Given the description of an element on the screen output the (x, y) to click on. 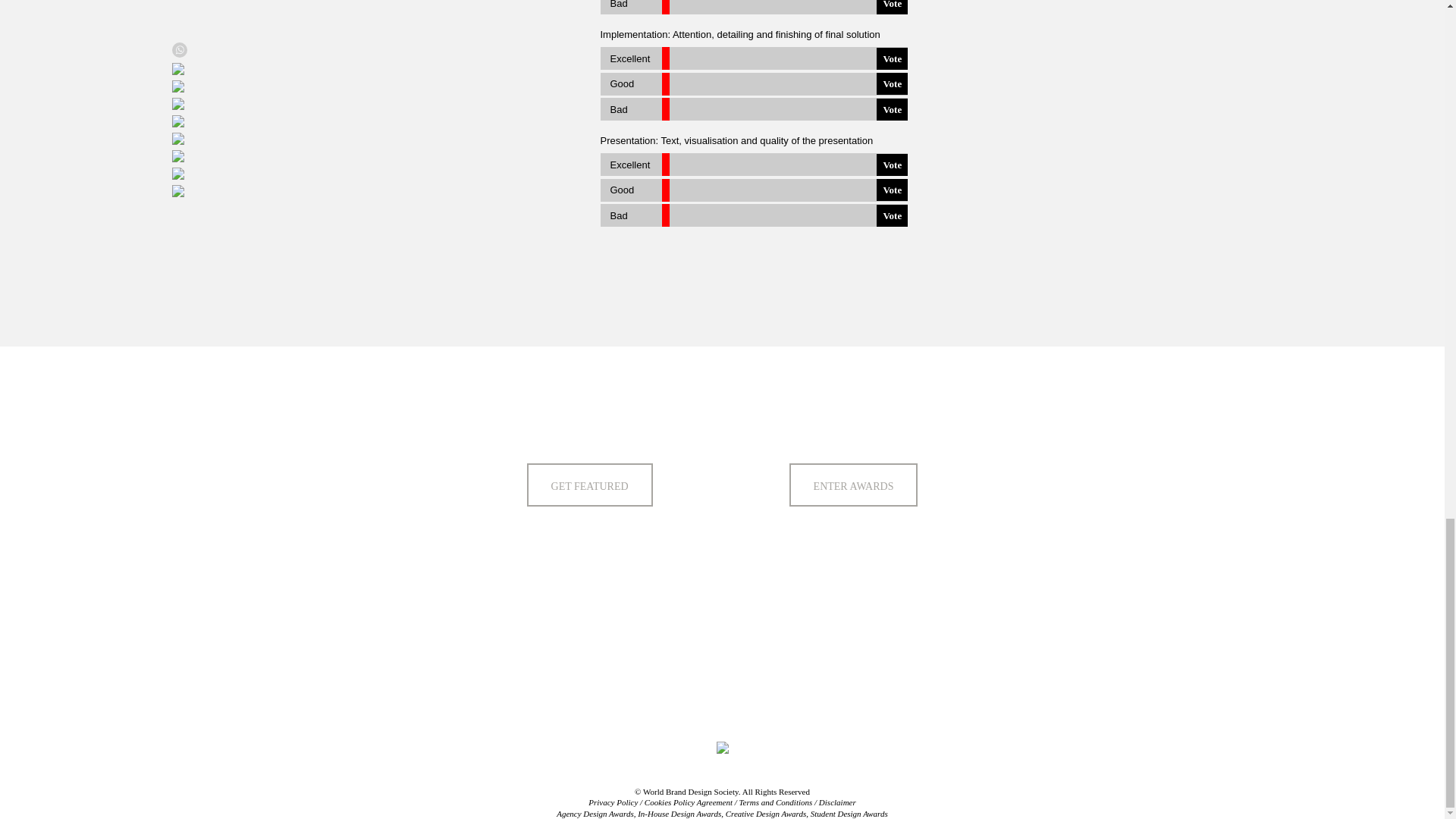
GET FEATURED (589, 484)
